Given the description of an element on the screen output the (x, y) to click on. 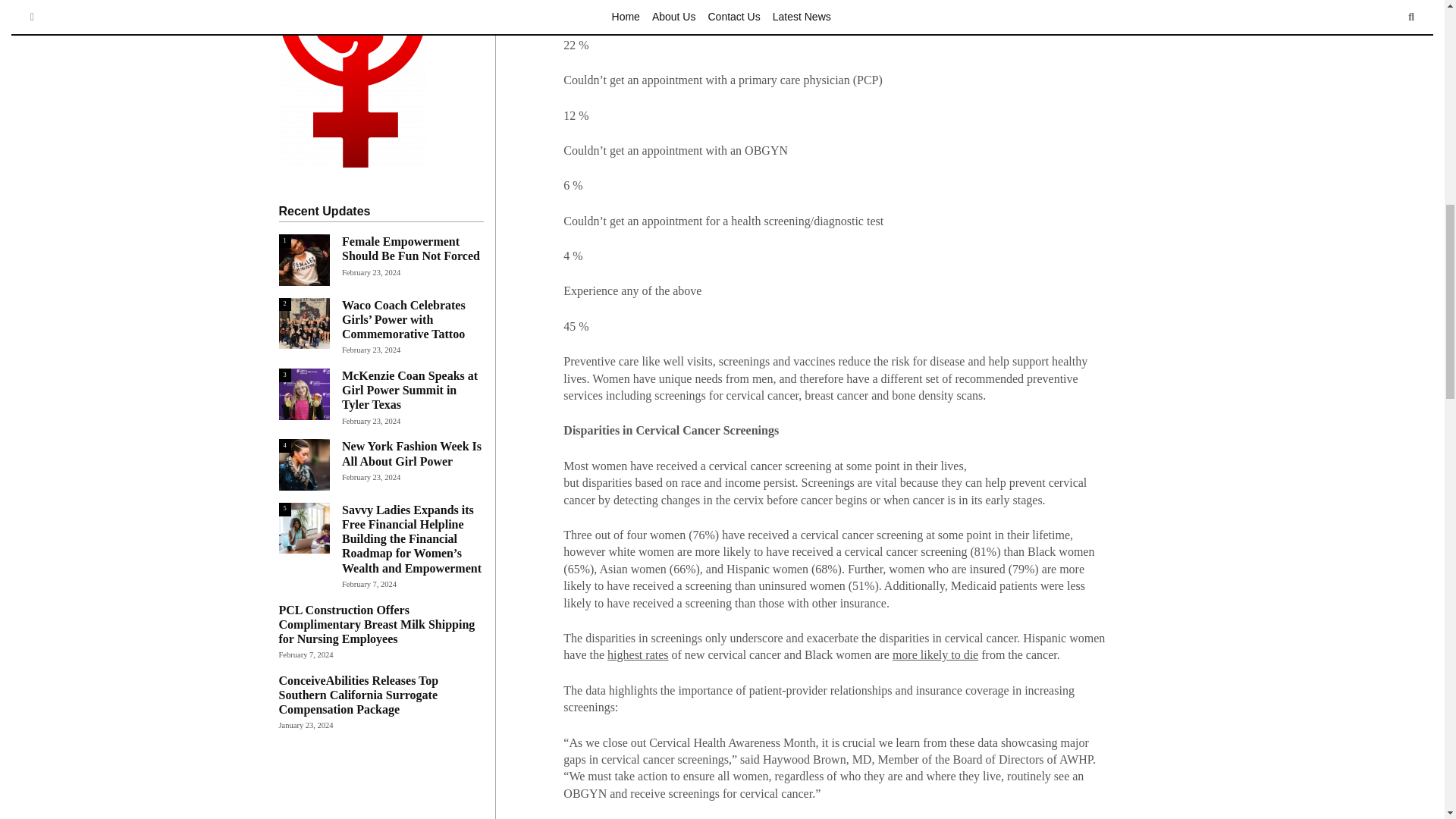
more likely to die (935, 654)
highest rates (637, 654)
